Given the description of an element on the screen output the (x, y) to click on. 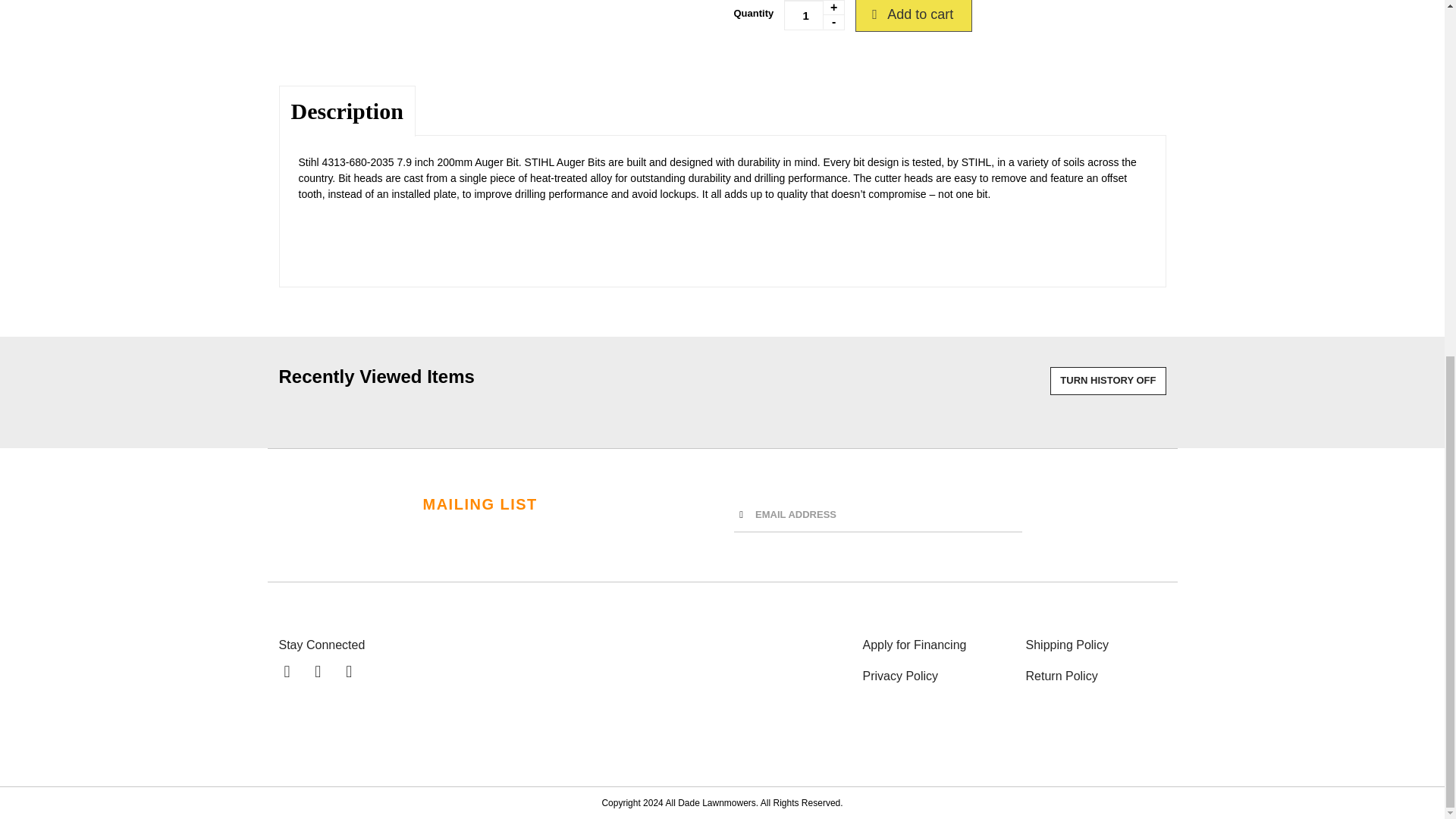
1 (814, 15)
